Given the description of an element on the screen output the (x, y) to click on. 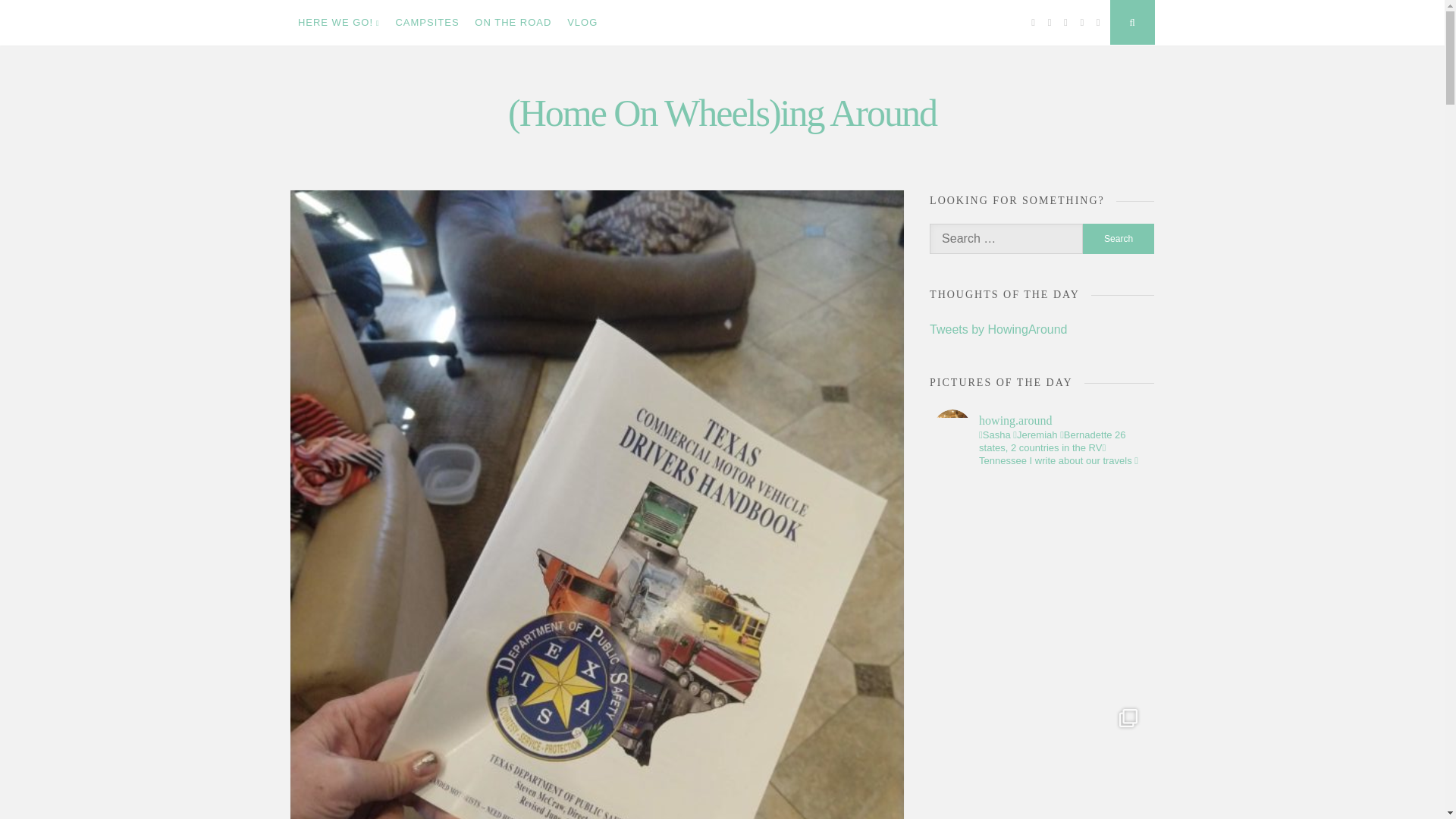
CAMPSITES (427, 22)
Search (1118, 238)
HERE WE GO! (338, 22)
After about 5 months of building the shop, we now (1042, 759)
Tweets by HowingAround (998, 328)
ON THE ROAD (513, 22)
Search (1118, 238)
VLOG (582, 22)
Happy adoptaversary you freaking gremlin! 7 years (1042, 586)
